Given the description of an element on the screen output the (x, y) to click on. 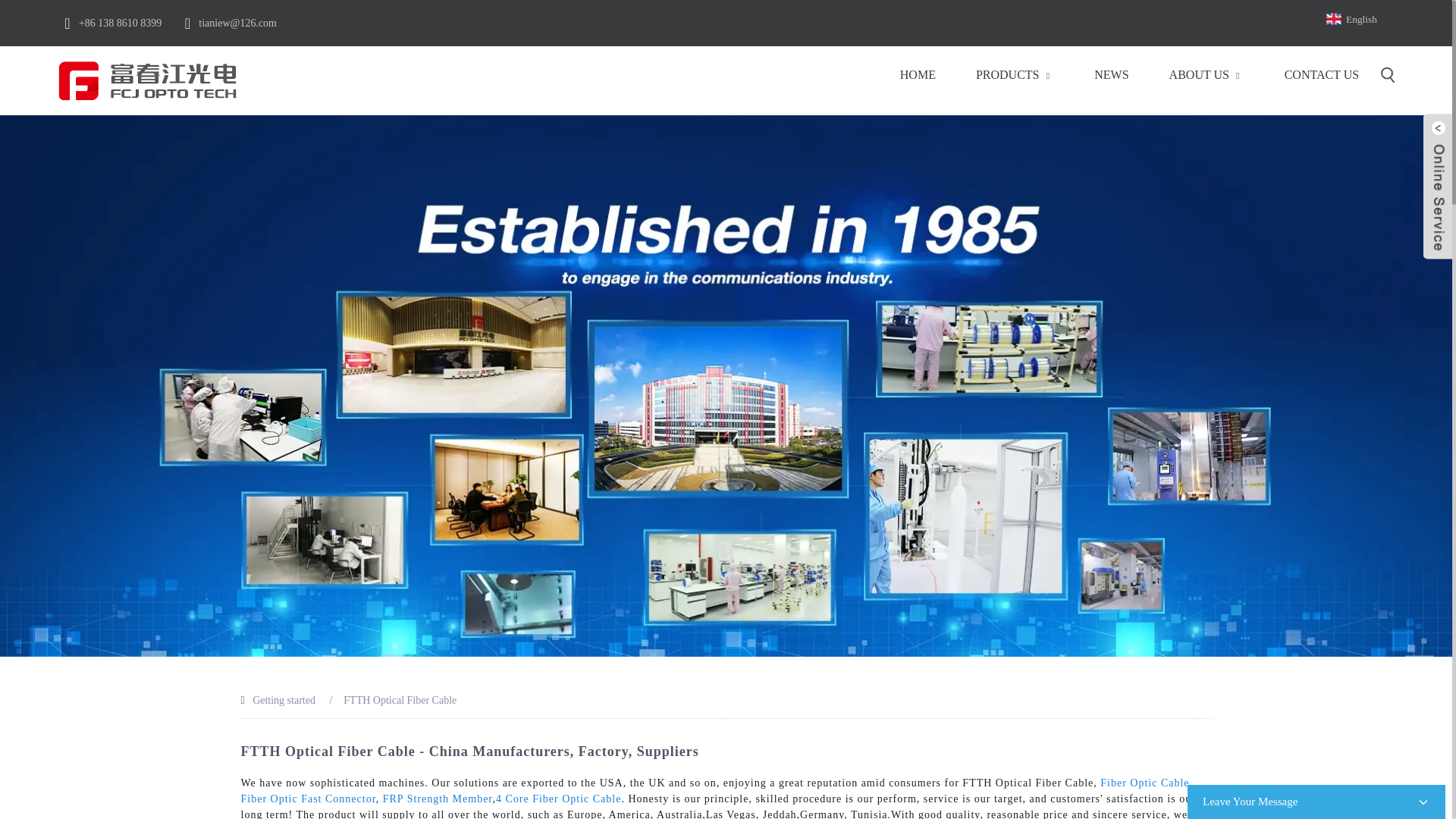
English (1362, 17)
